Given the description of an element on the screen output the (x, y) to click on. 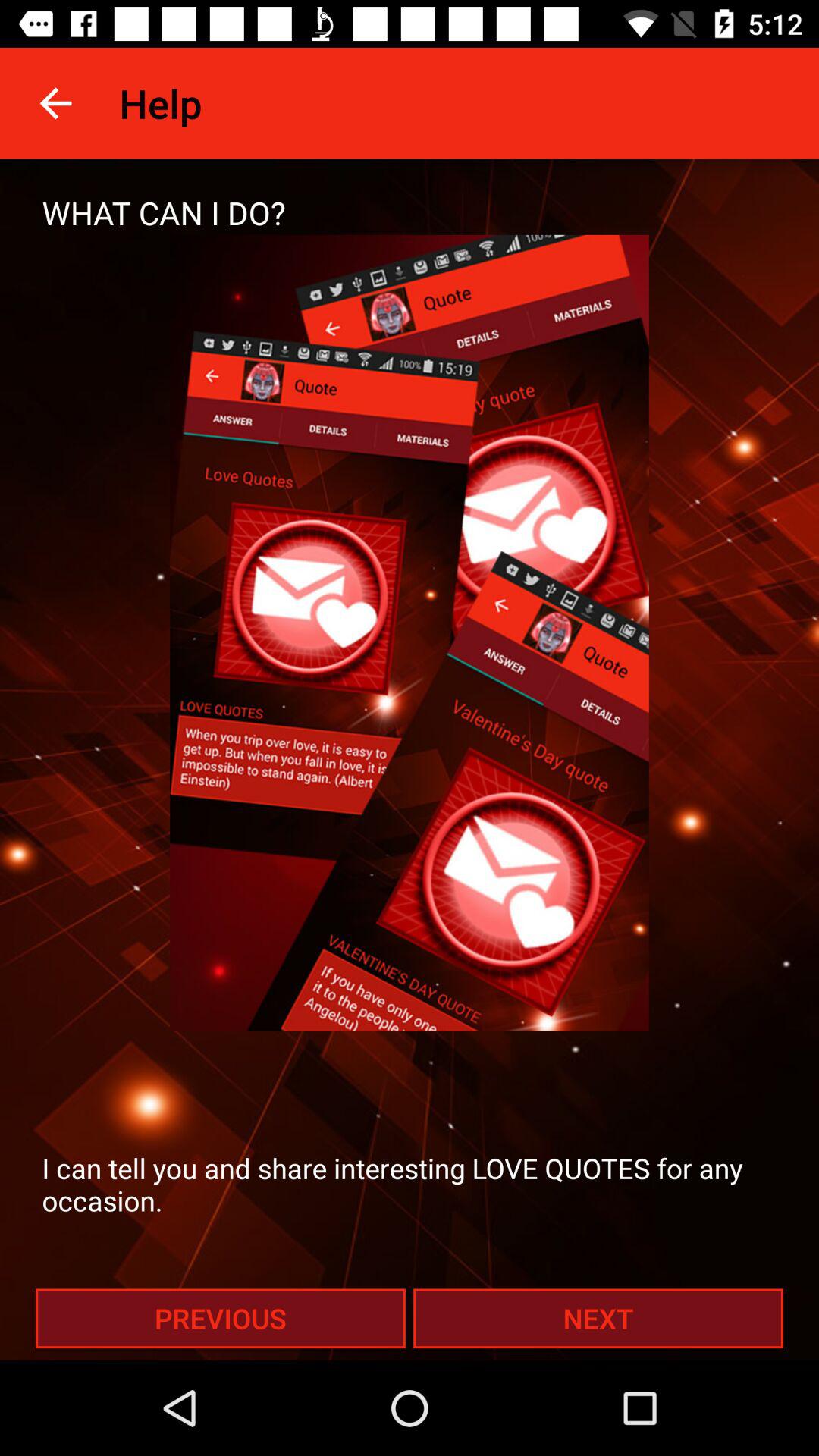
press icon to the left of help (55, 103)
